Given the description of an element on the screen output the (x, y) to click on. 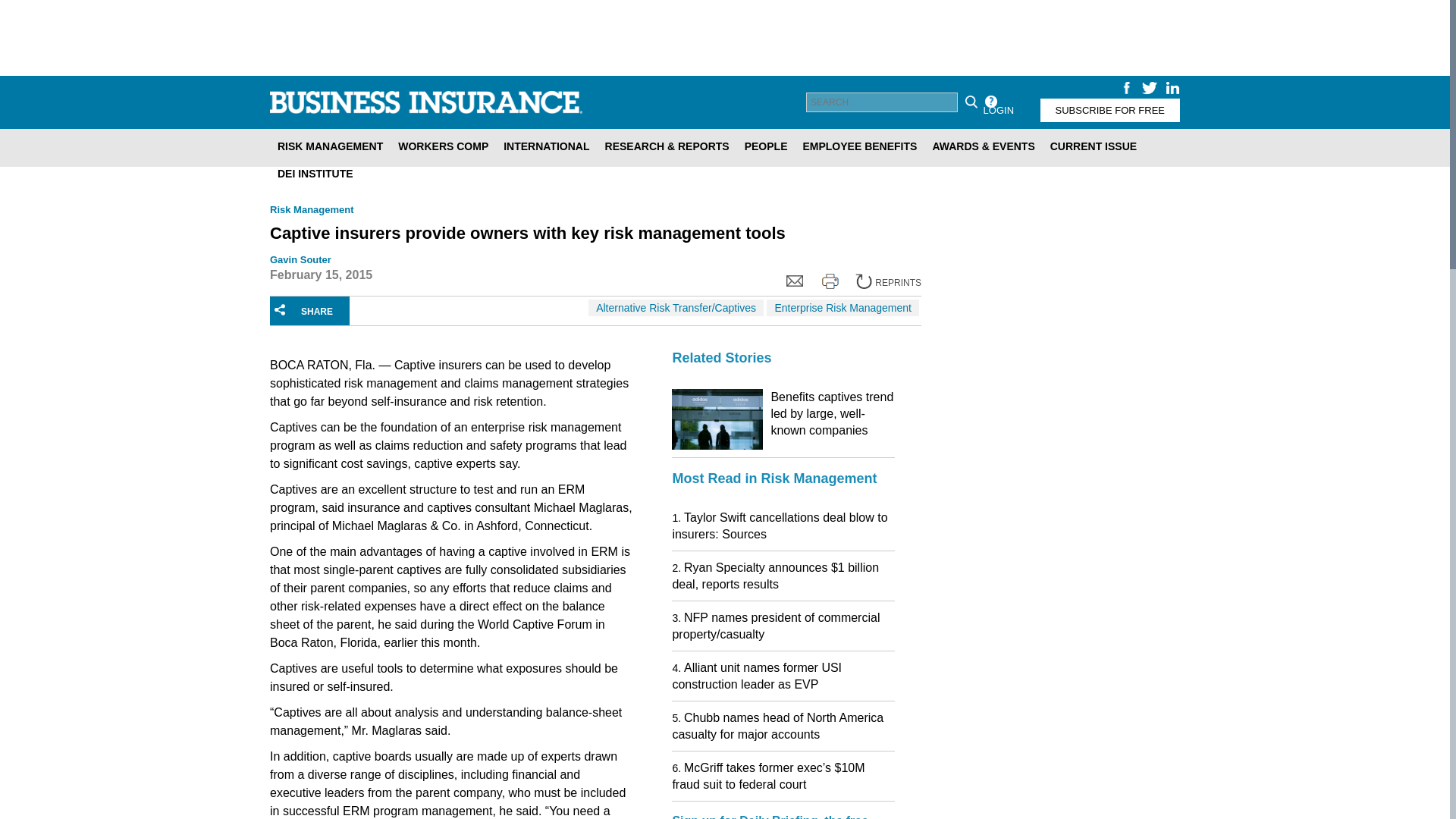
INTERNATIONAL (546, 145)
RISK MANAGEMENT (329, 145)
PEOPLE (765, 145)
Help (990, 101)
LOGIN (998, 110)
SUBSCRIBE FOR FREE (1110, 110)
WORKERS COMP (443, 145)
